Given the description of an element on the screen output the (x, y) to click on. 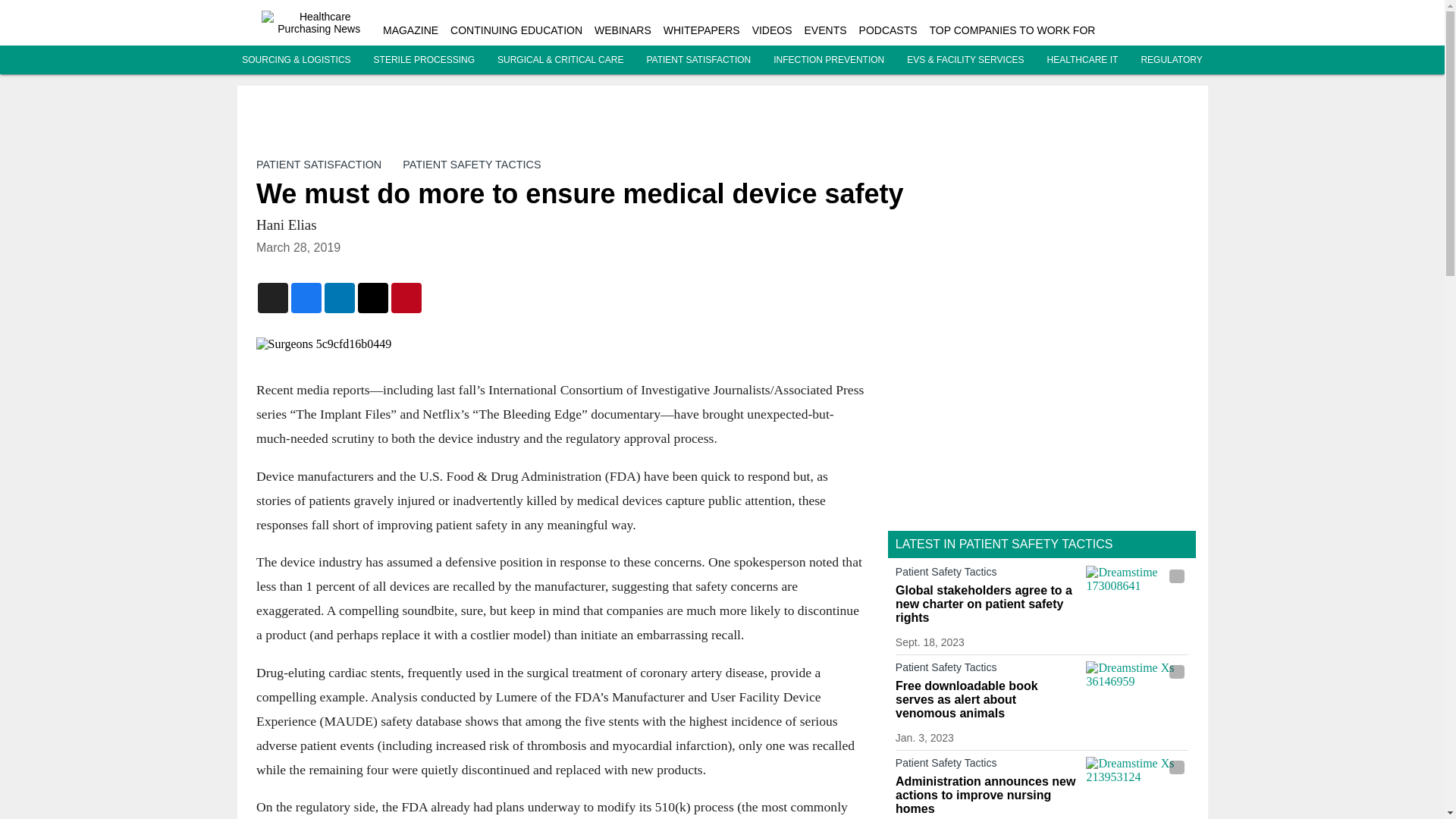
CONTINUING EDUCATION (515, 30)
Surgeons 5c9cfd16b0449 (560, 344)
HEALTHCARE IT (1082, 59)
PATIENT SAFETY TACTICS (471, 164)
WHITEPAPERS (701, 30)
PATIENT SATISFACTION (698, 59)
VIDEOS (772, 30)
Dreamstime 173008641 (1137, 593)
Patient Safety Tactics (986, 669)
